Given the description of an element on the screen output the (x, y) to click on. 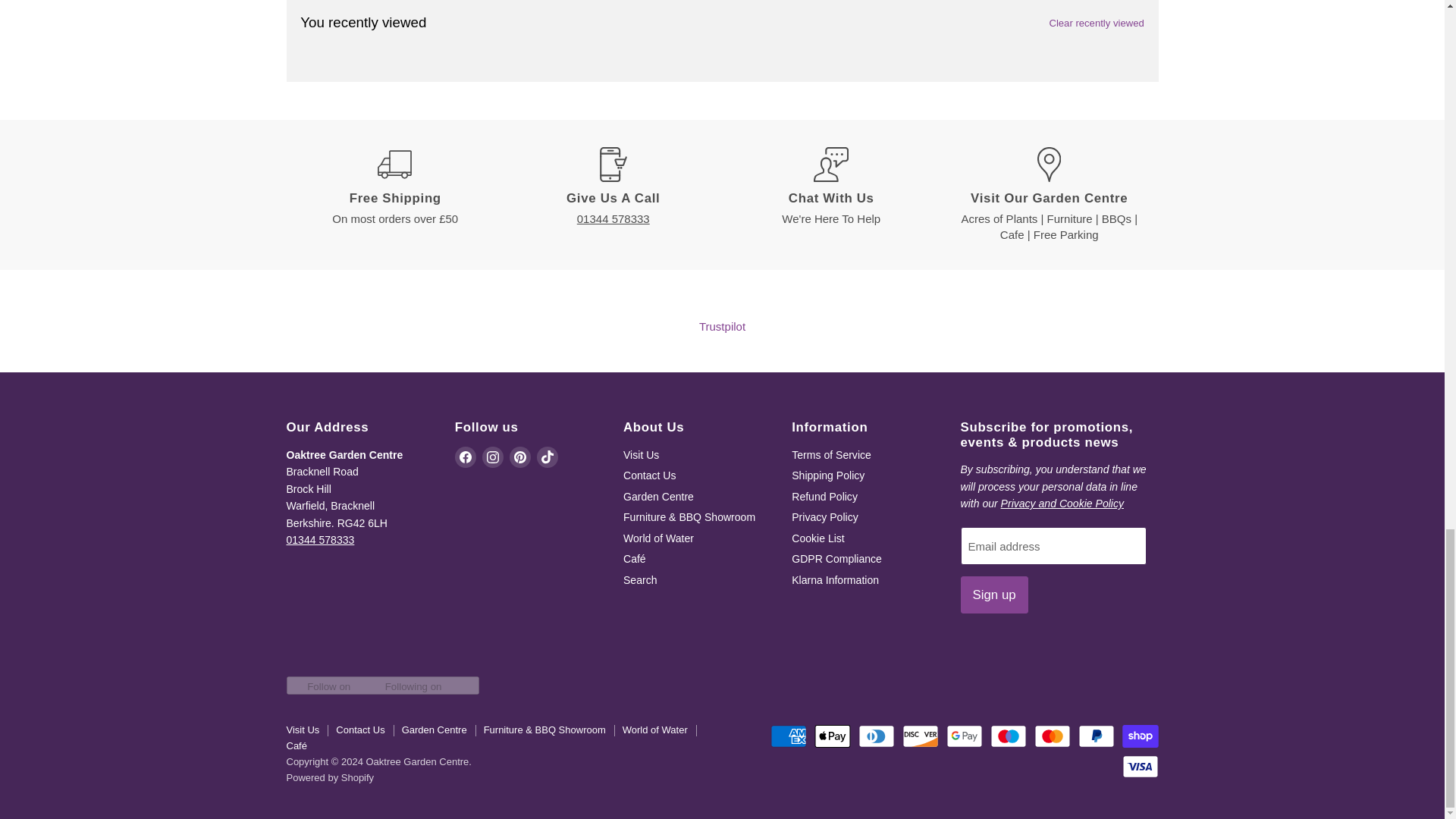
TikTok (547, 456)
Call Us (320, 539)
Pinterest (520, 456)
Privacy Policy (1062, 503)
Facebook (465, 456)
Instagram (492, 456)
